Given the description of an element on the screen output the (x, y) to click on. 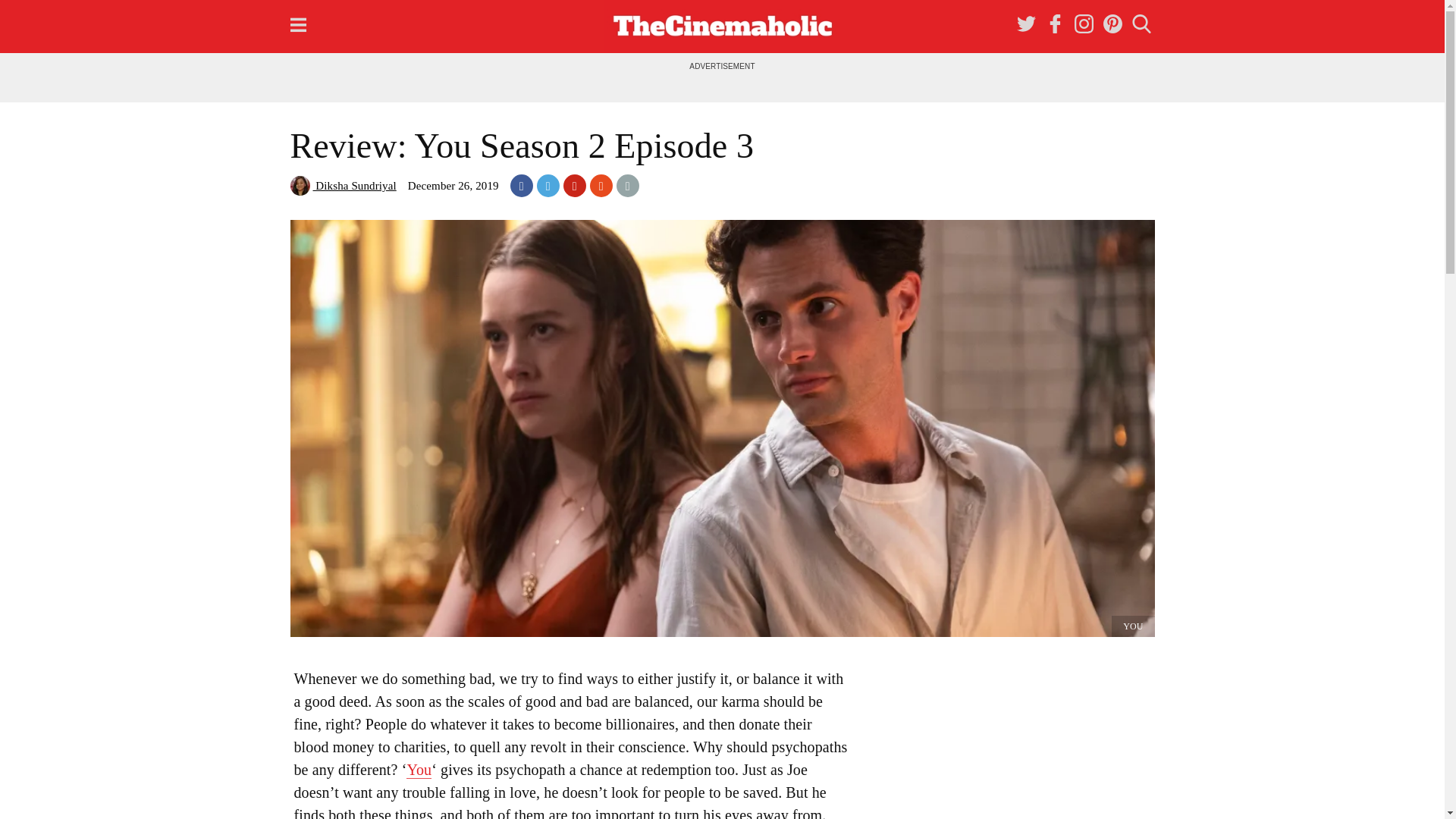
You (418, 769)
Diksha Sundriyal (342, 185)
